Given the description of an element on the screen output the (x, y) to click on. 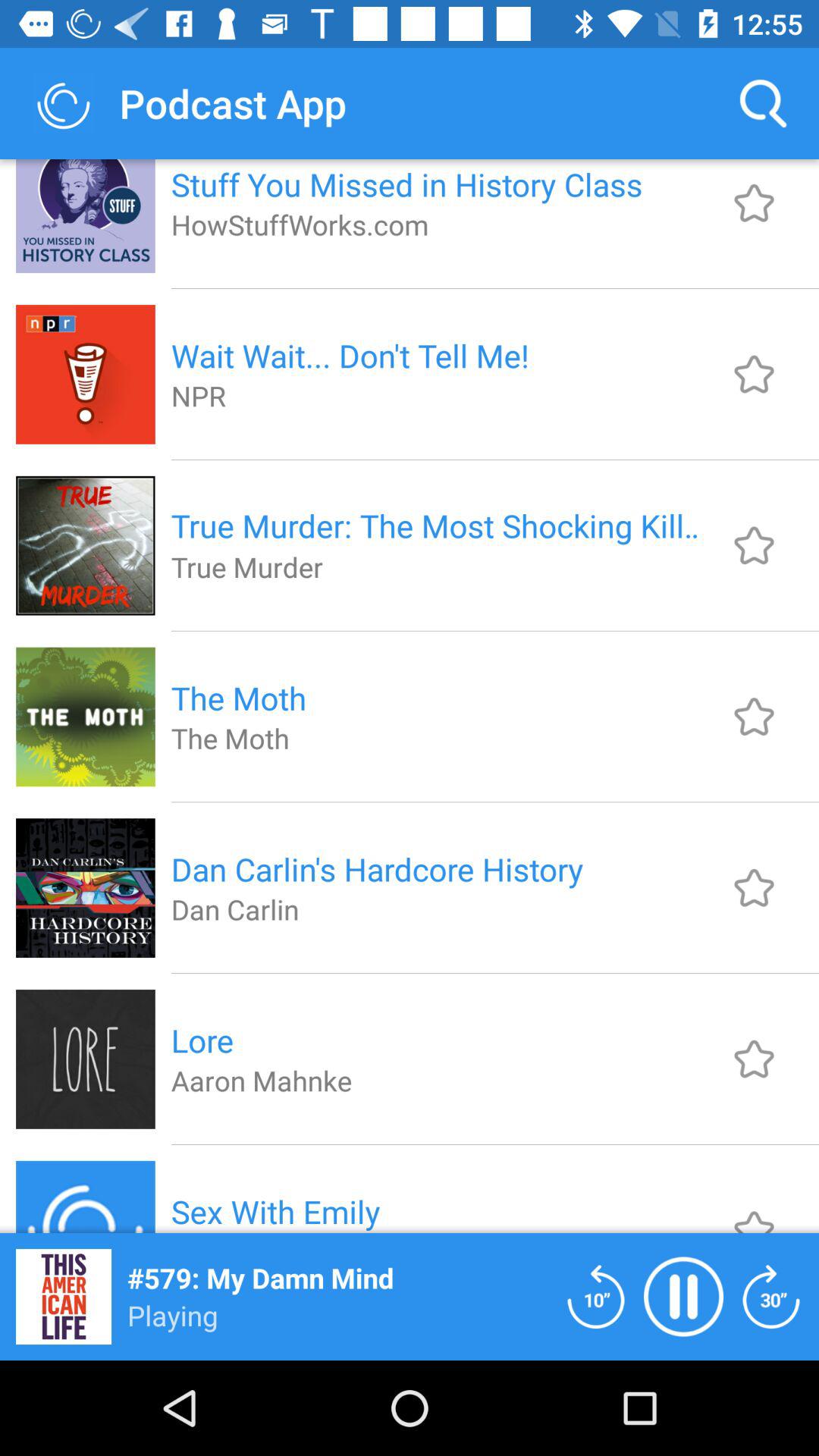
favorite (754, 374)
